Given the description of an element on the screen output the (x, y) to click on. 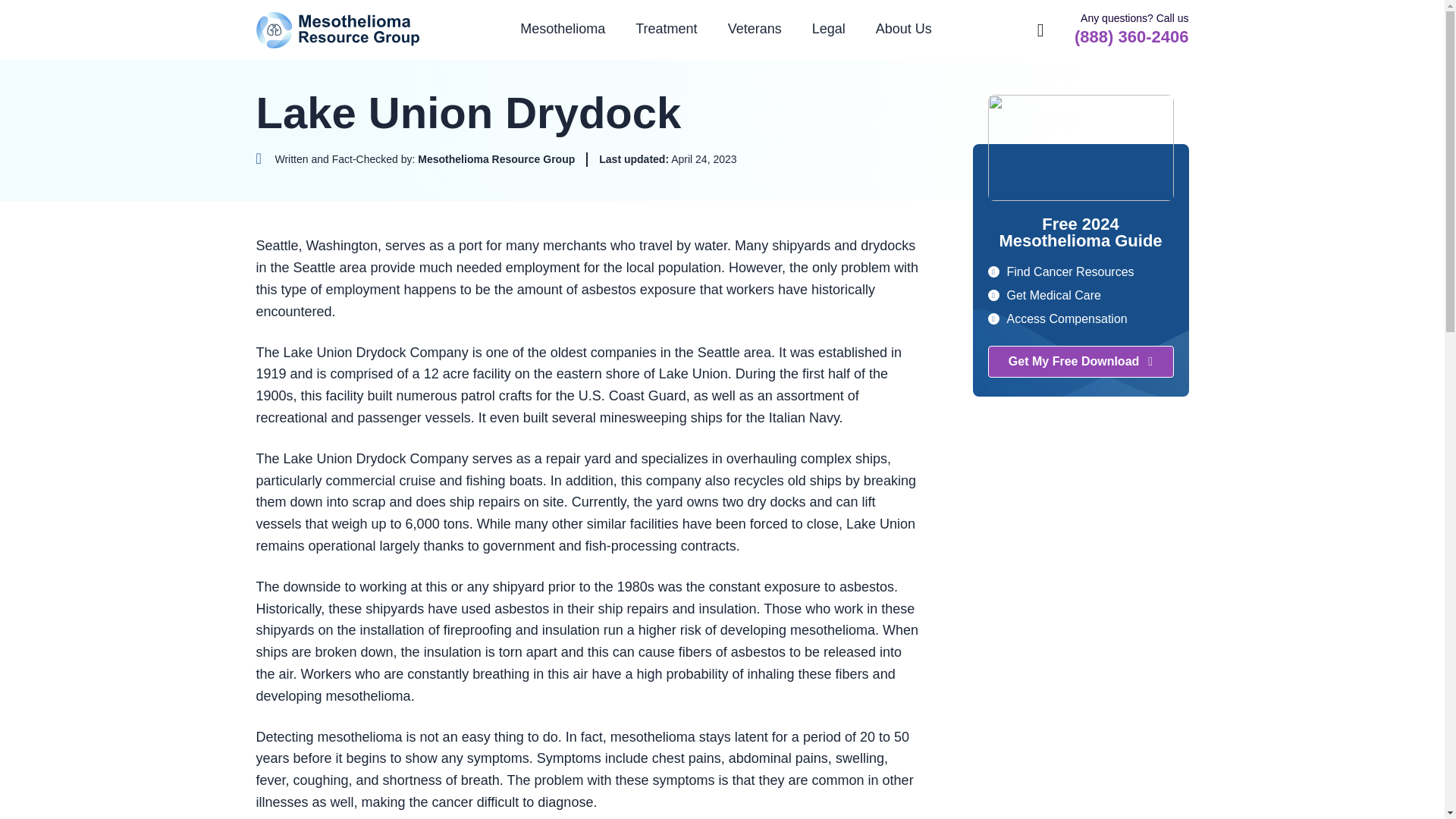
Treatment (665, 28)
Veterans (754, 28)
Treatment (665, 28)
Mesothelioma (562, 28)
About Us (903, 28)
Click to view Mesothelioma Resource Group (415, 159)
Veterans (754, 28)
Legal (828, 28)
Mesothelioma Resource Group (339, 29)
Mesothelioma Resource Group (339, 29)
Mesothelioma (562, 28)
